Given the description of an element on the screen output the (x, y) to click on. 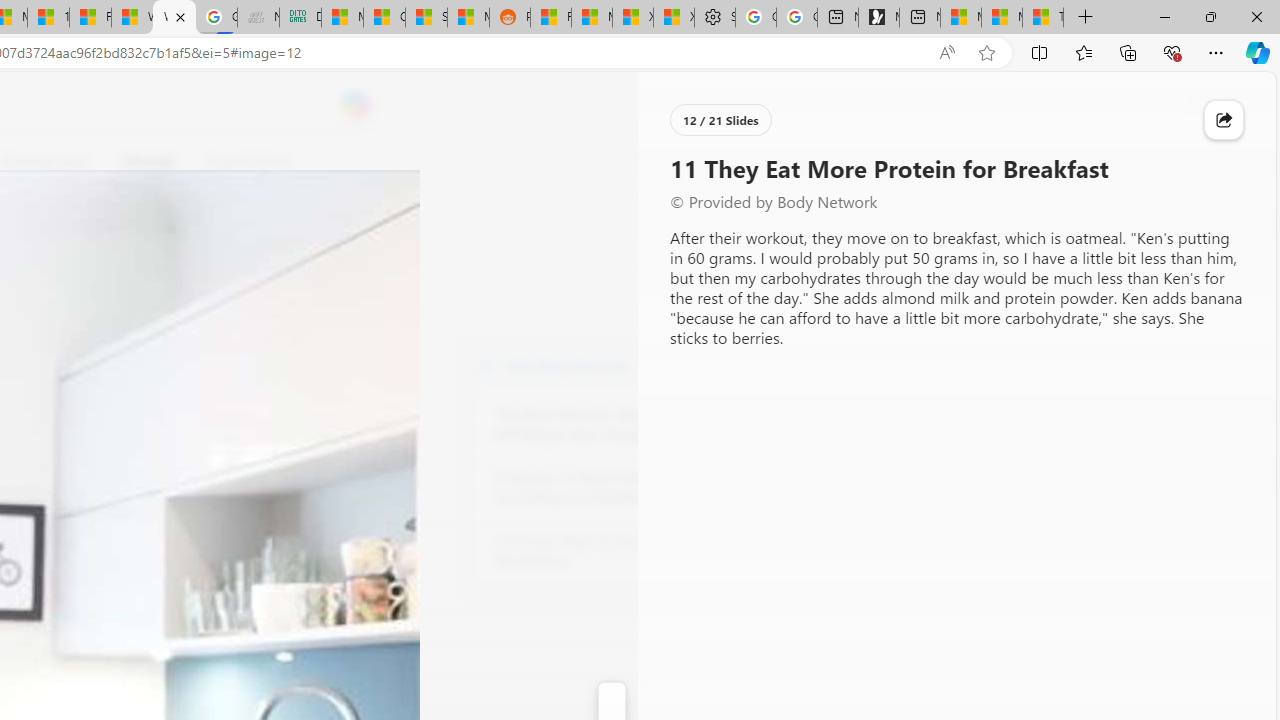
Class: at-item immersive (1224, 120)
Personalize (711, 162)
14 Common Myths Debunked By Scientific Facts (48, 17)
Lifestyle (148, 162)
12 Proven Ways To Increase Your Metabolism (603, 550)
